Given the description of an element on the screen output the (x, y) to click on. 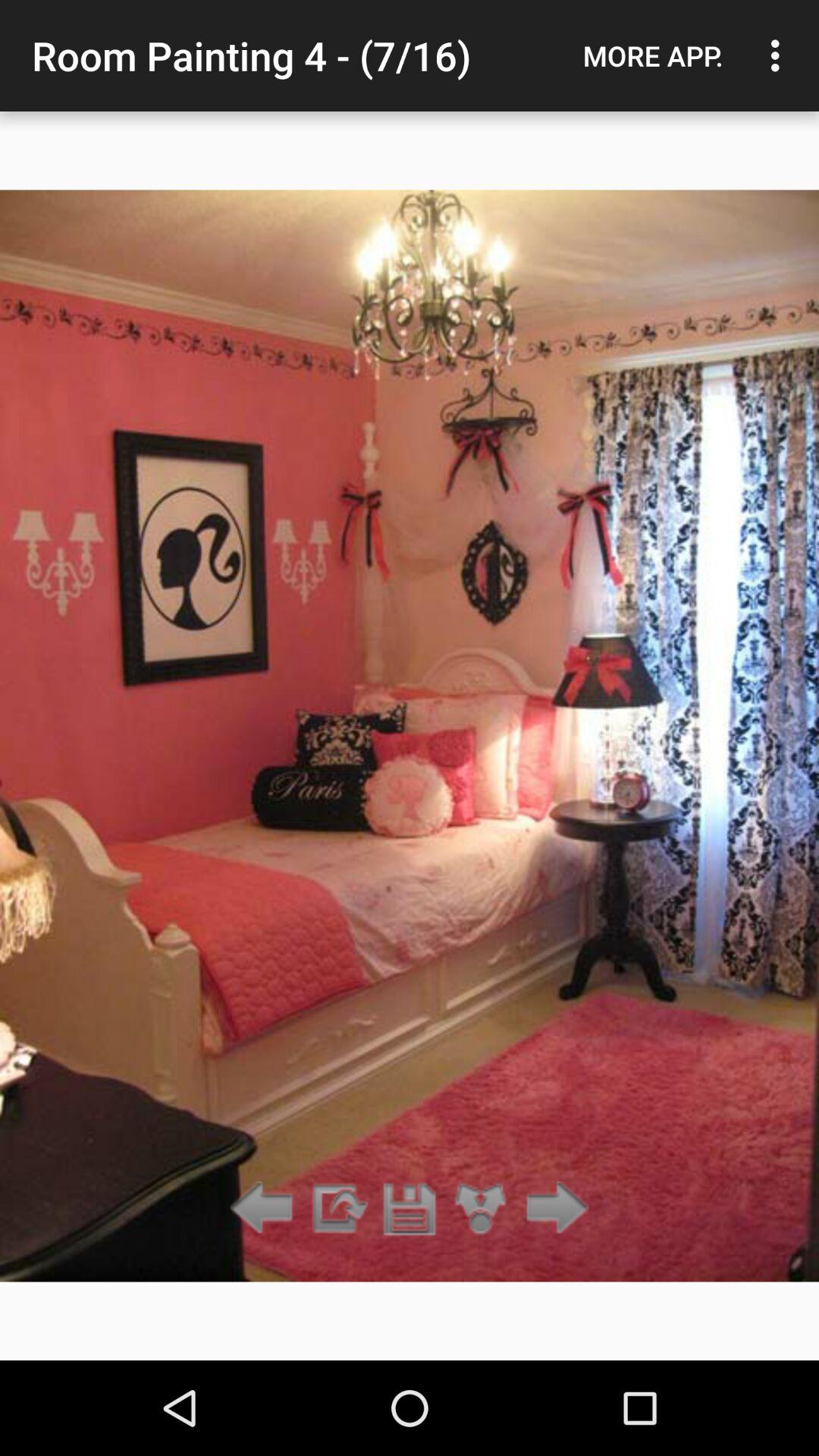
tap the item below the more app. (552, 1209)
